Given the description of an element on the screen output the (x, y) to click on. 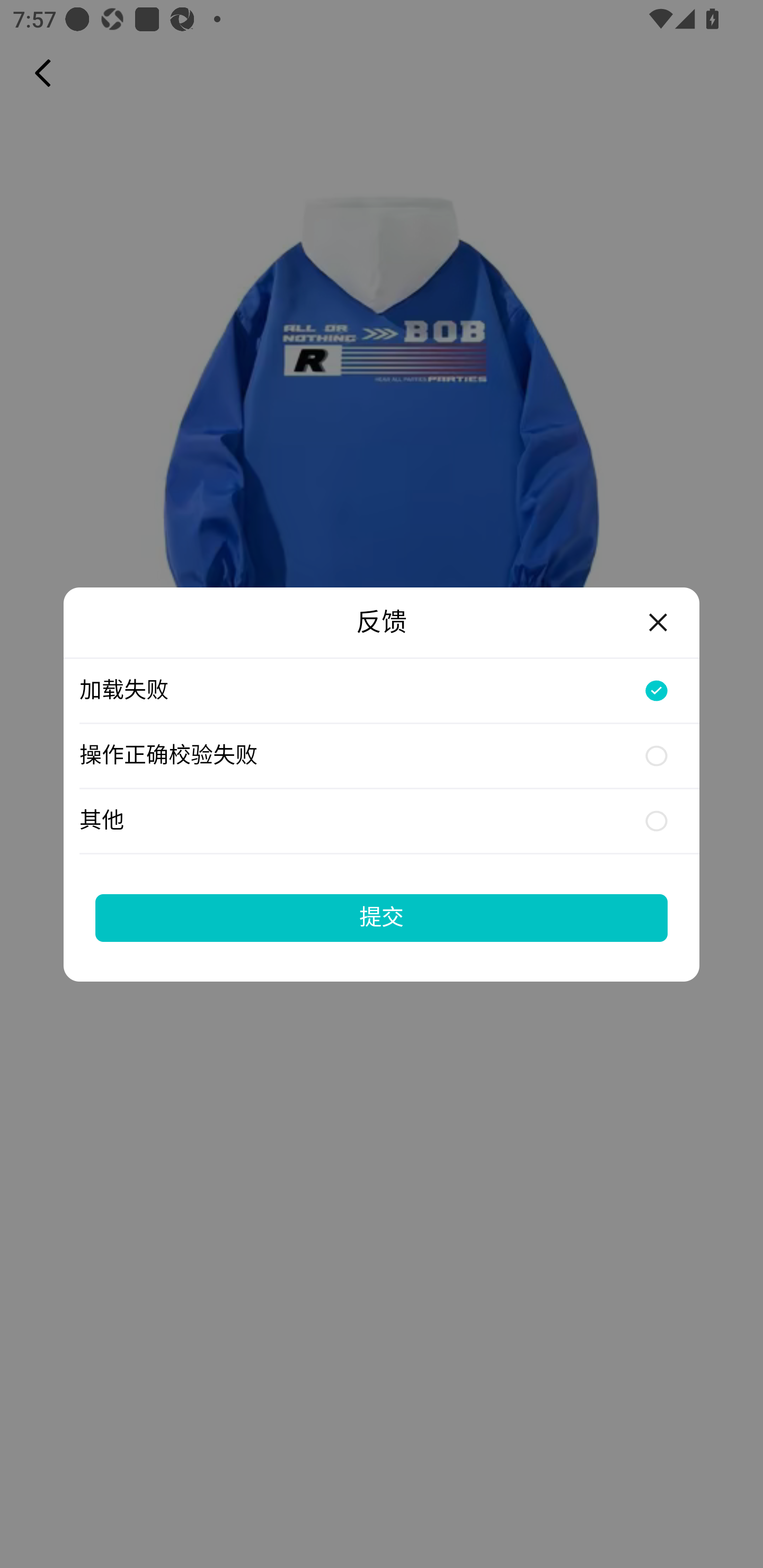
提交 (381, 917)
